Given the description of an element on the screen output the (x, y) to click on. 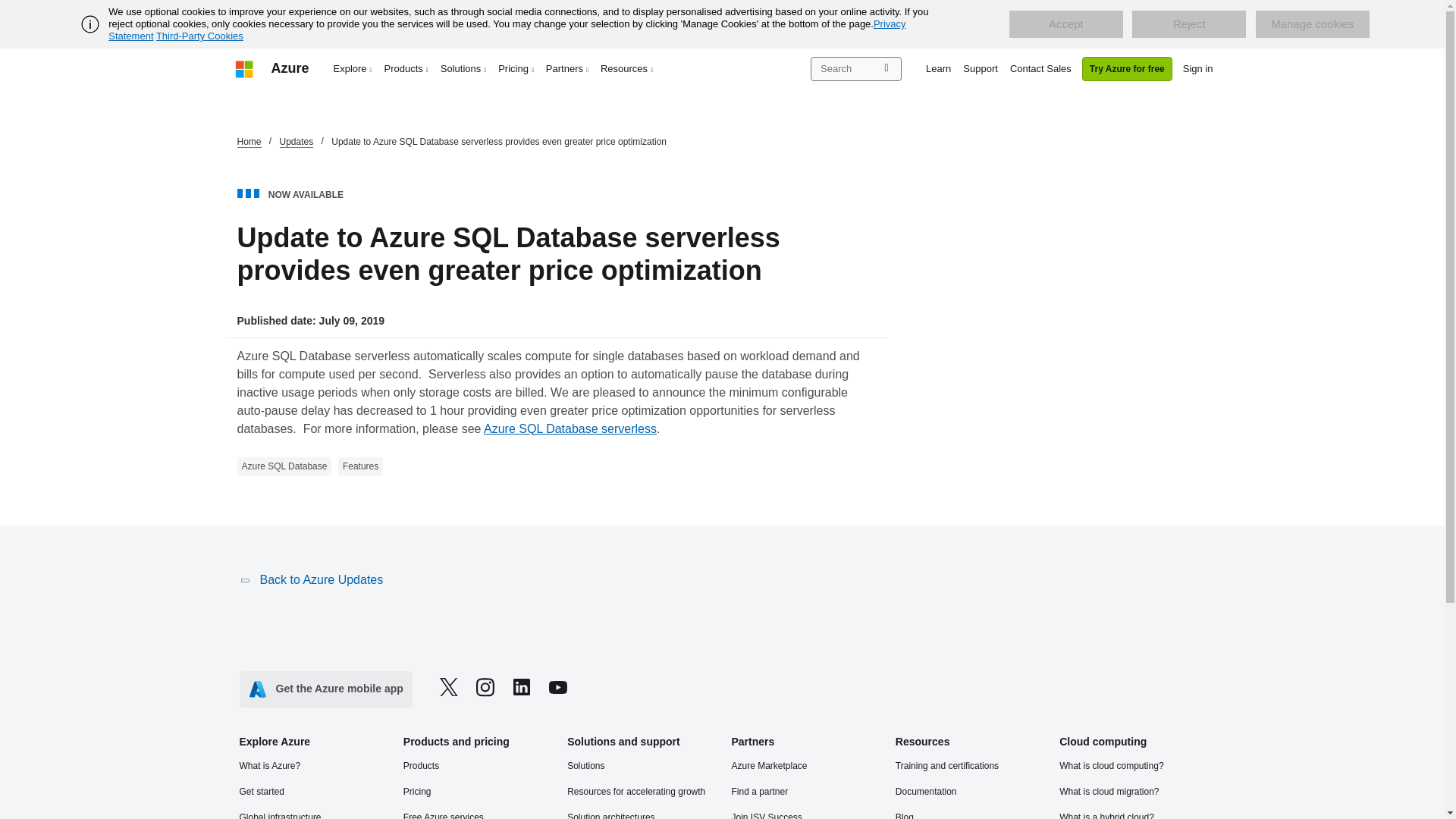
Manage cookies (1312, 23)
Skip to main content (7, 7)
Products (405, 68)
Third-Party Cookies (199, 35)
Reject (1189, 23)
Privacy Statement (506, 29)
Azure (289, 68)
Explore (352, 68)
Accept (1065, 23)
